Given the description of an element on the screen output the (x, y) to click on. 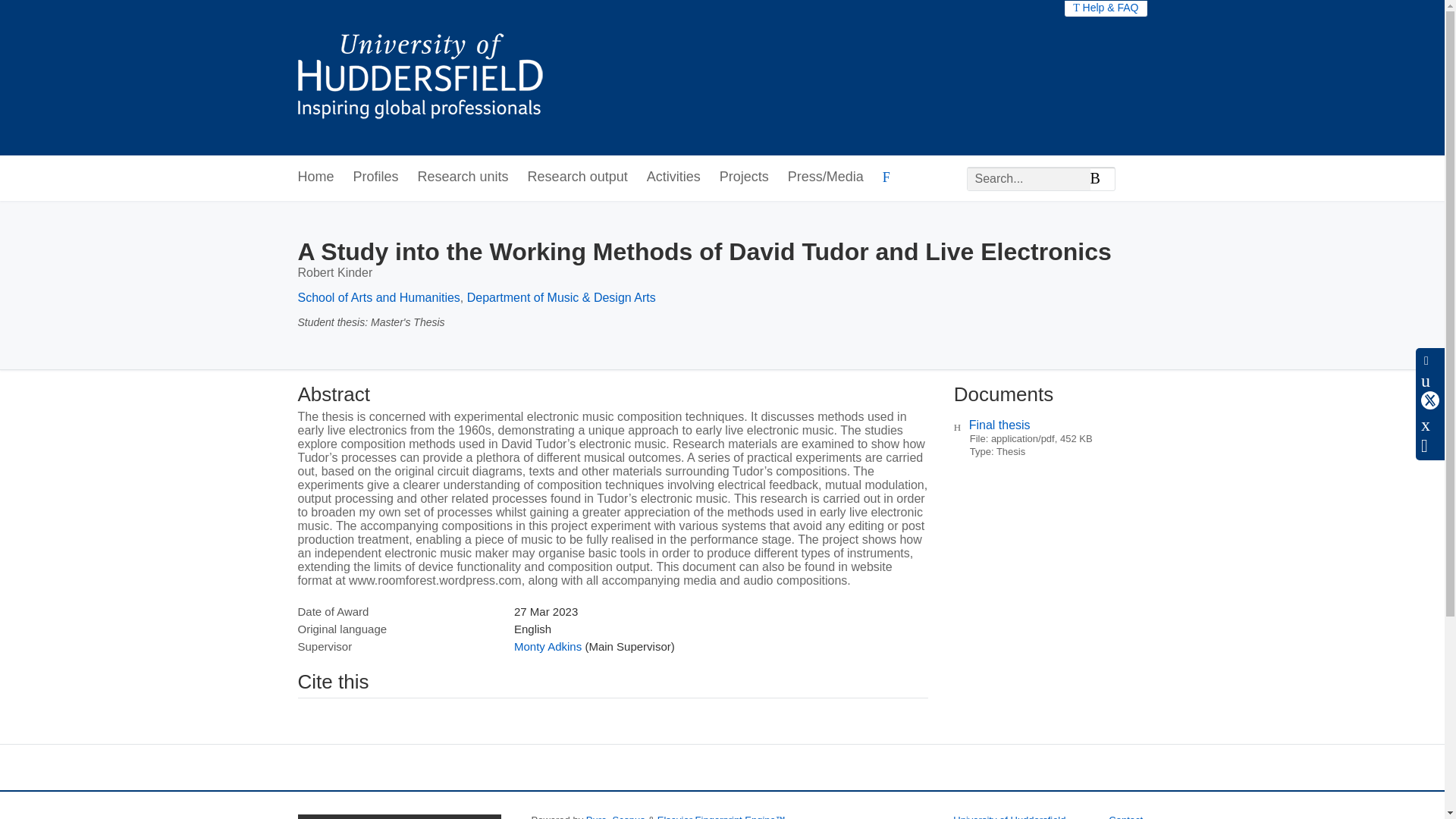
Projects (743, 177)
University of Huddersfield Research Portal Home (431, 77)
Activities (673, 177)
Research output (577, 177)
Profiles (375, 177)
Final thesis (999, 424)
School of Arts and Humanities (378, 297)
Scopus (628, 816)
Pure (596, 816)
